Given the description of an element on the screen output the (x, y) to click on. 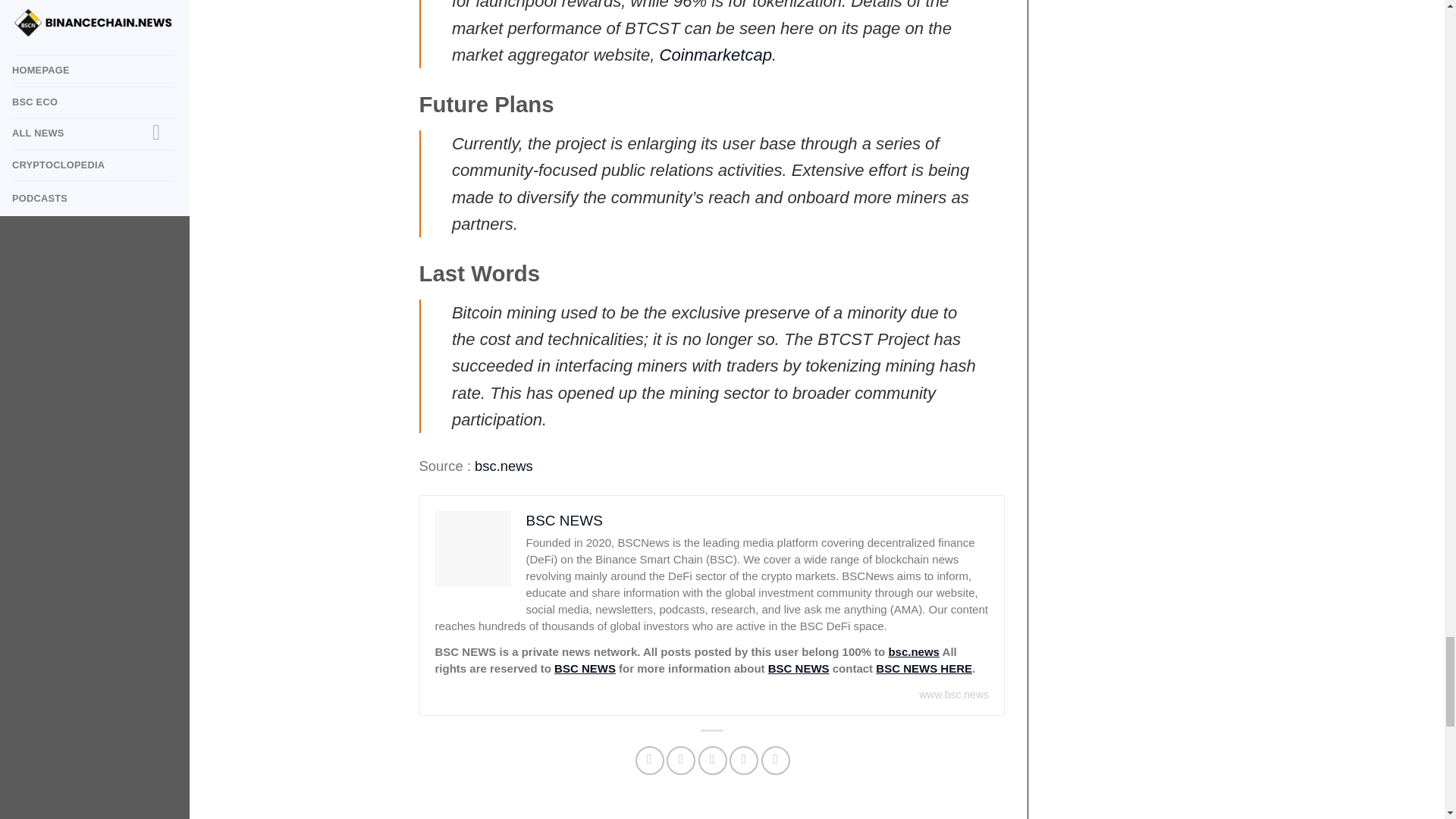
Share on Facebook (648, 760)
bsc.news (503, 465)
Email to a Friend (712, 760)
Share on LinkedIn (775, 760)
BSC NEWS (563, 520)
www.bsc.news (953, 694)
BSC NEWS HERE (924, 667)
BSC NEWS (798, 667)
Share on Twitter (680, 760)
BSC NEWS (584, 667)
